Given the description of an element on the screen output the (x, y) to click on. 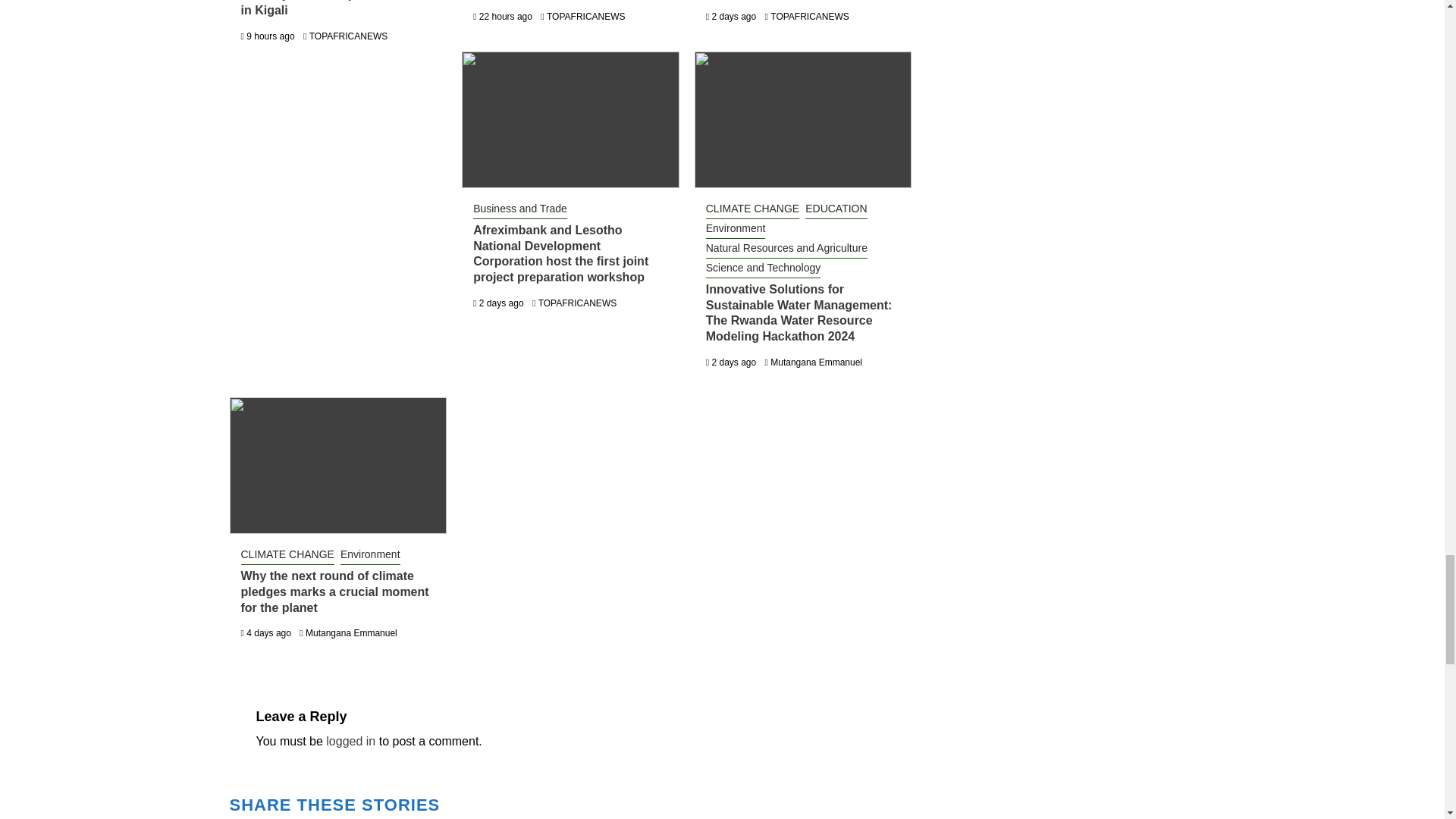
TOPAFRICANEWS (586, 16)
Partnership provides motorcycles to empower women in Kigali (335, 8)
TOPAFRICANEWS (348, 36)
TOPAFRICANEWS (809, 16)
